Given the description of an element on the screen output the (x, y) to click on. 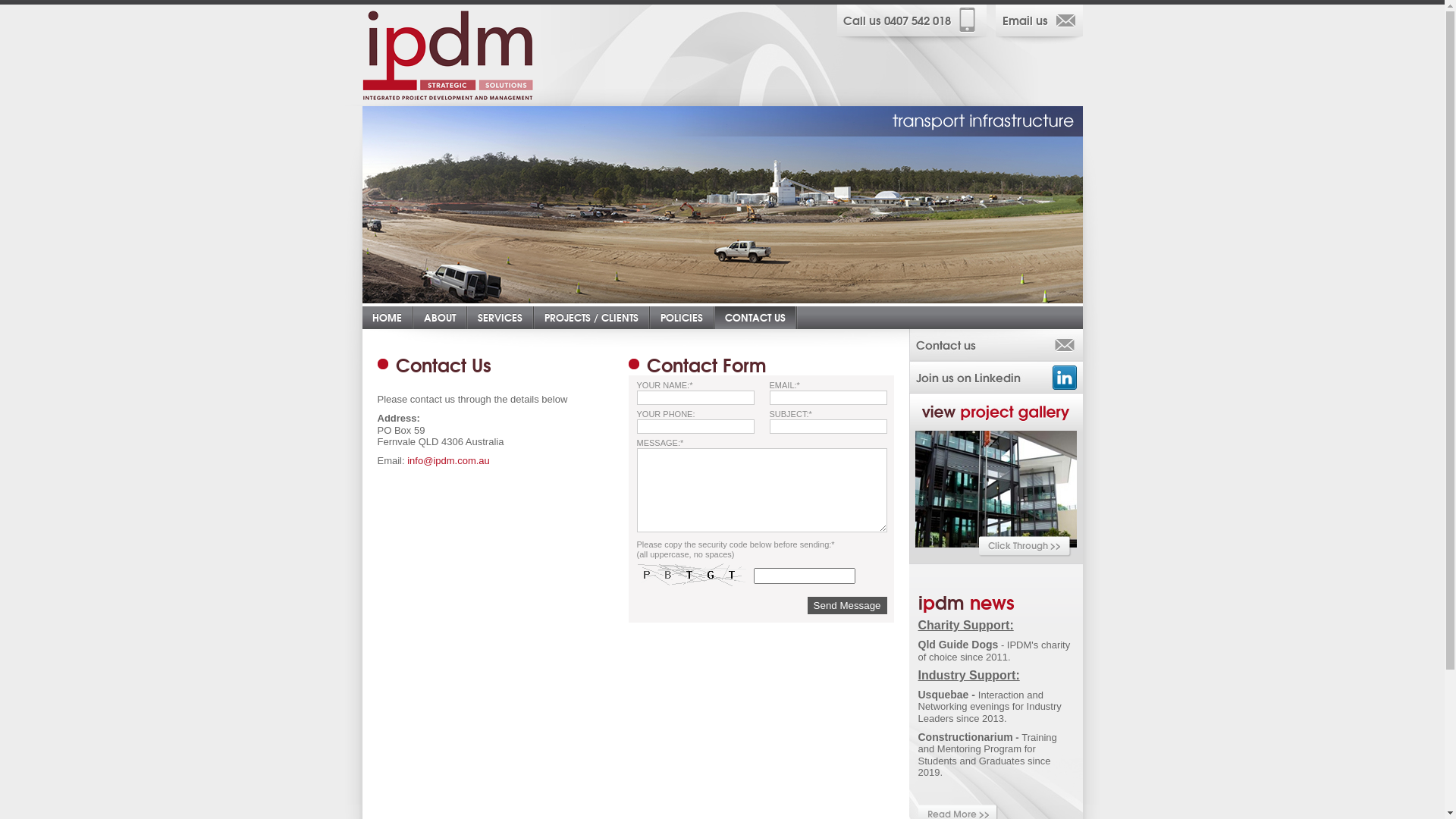
CONTACT US Element type: text (754, 317)
PROJECTS / CLIENTS Element type: text (590, 317)
Email us Element type: text (1038, 23)
POLICIES Element type: text (681, 317)
SERVICES Element type: text (499, 317)
info@ipdm.com.au Element type: text (448, 460)
ABOUT Element type: text (439, 317)
Send Message Element type: text (847, 605)
HOME Element type: text (386, 317)
